Given the description of an element on the screen output the (x, y) to click on. 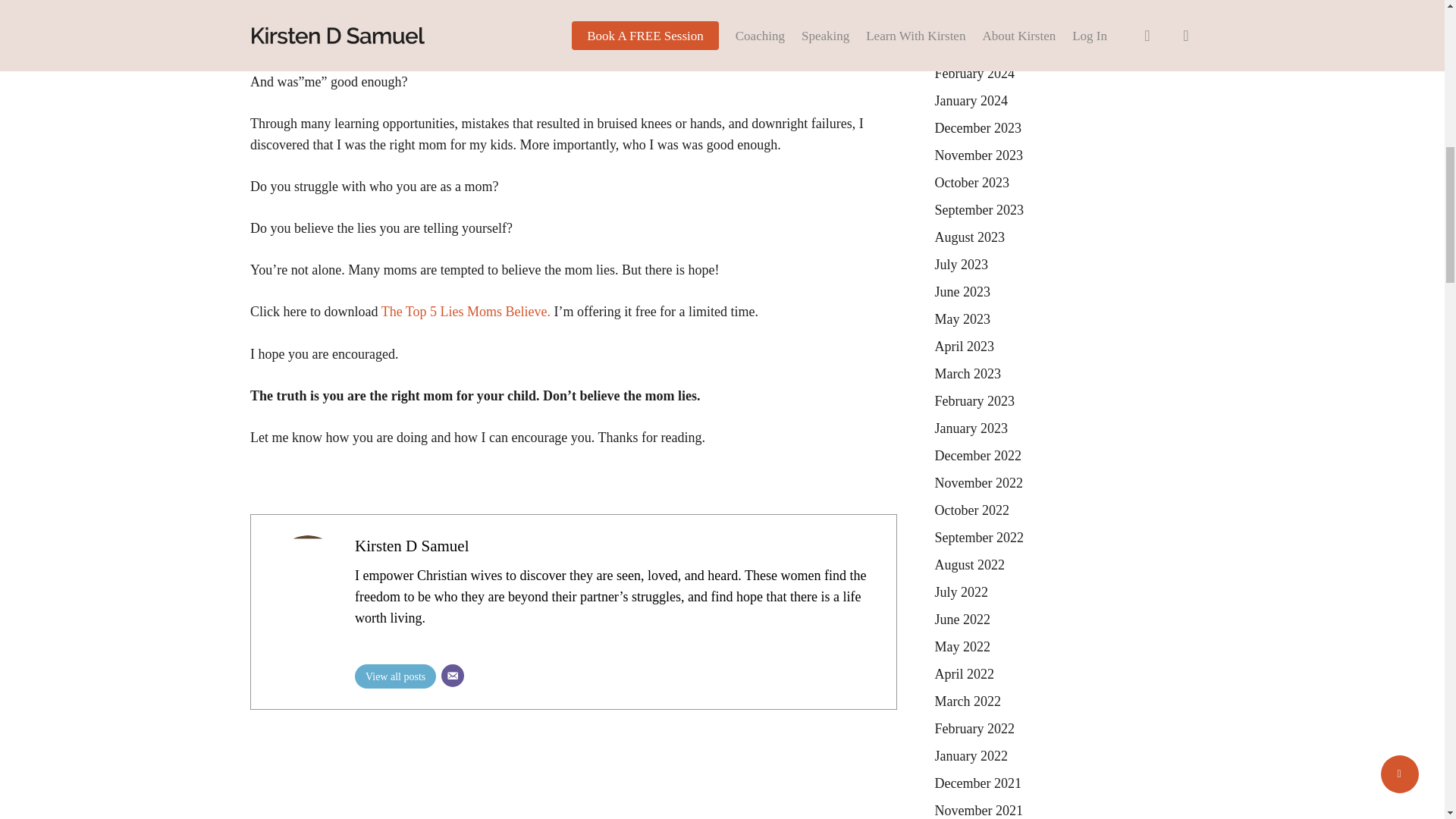
View all posts (395, 676)
Kirsten D Samuel (411, 546)
The Top 5 Lies Moms Believe. (465, 311)
View all posts (395, 676)
Kirsten D Samuel (411, 546)
